Given the description of an element on the screen output the (x, y) to click on. 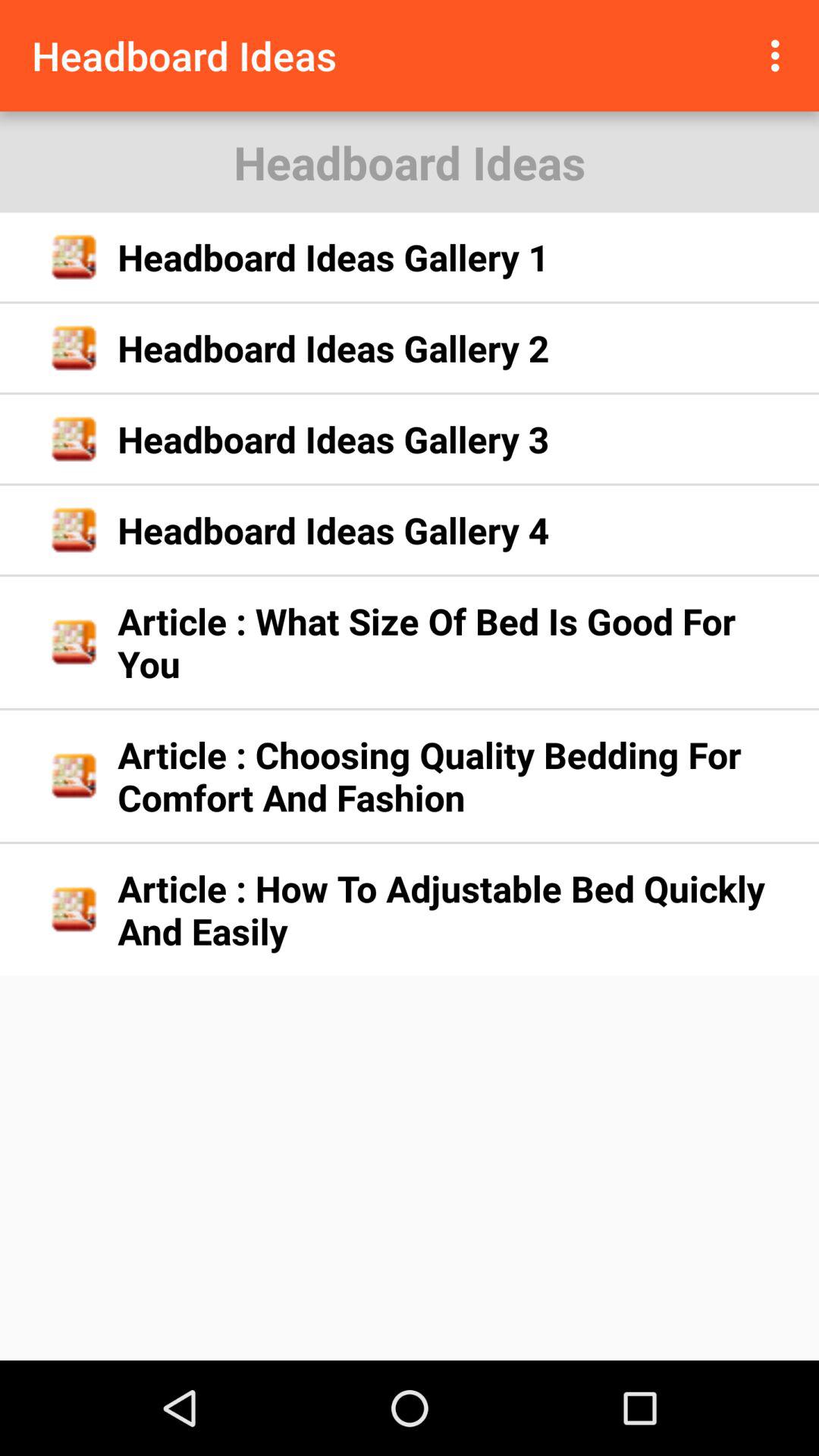
tap the app next to headboard ideas icon (779, 55)
